Given the description of an element on the screen output the (x, y) to click on. 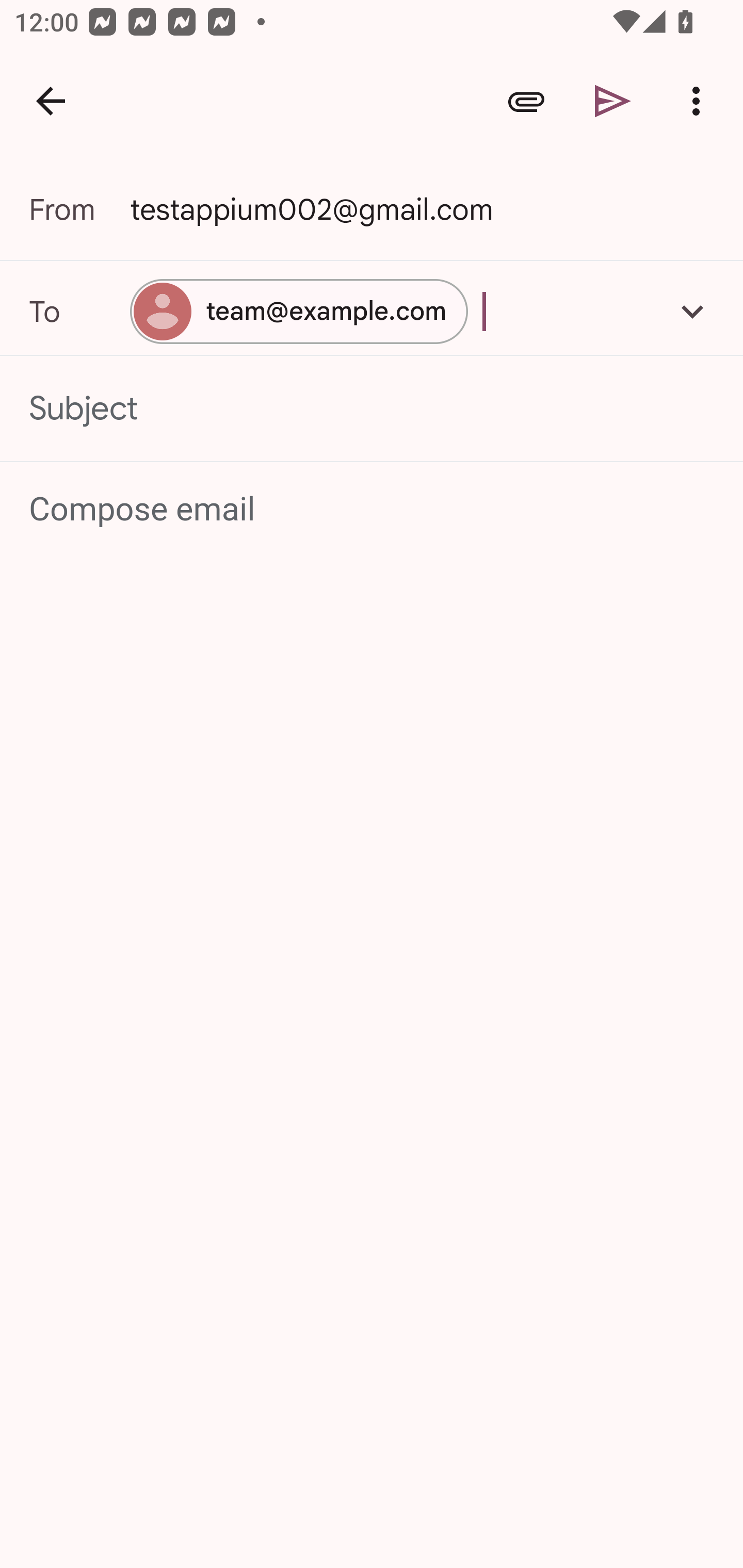
Navigate up (50, 101)
Attach file (525, 101)
Send (612, 101)
More options (699, 101)
From (79, 209)
Add Cc/Bcc (692, 311)
Subject (371, 407)
Compose email (372, 509)
